Given the description of an element on the screen output the (x, y) to click on. 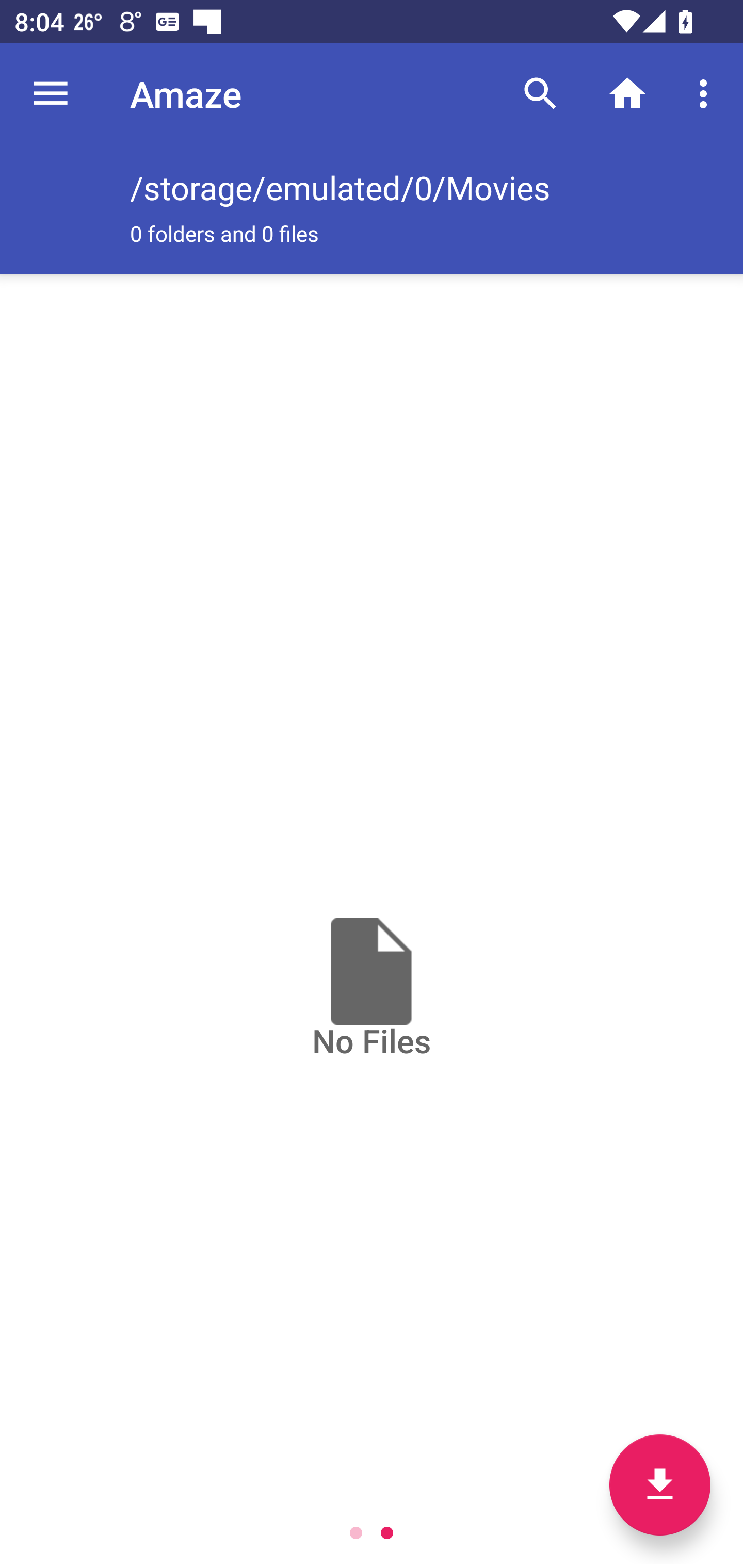
Navigate up (50, 93)
Search (540, 93)
Home (626, 93)
More options (706, 93)
